Given the description of an element on the screen output the (x, y) to click on. 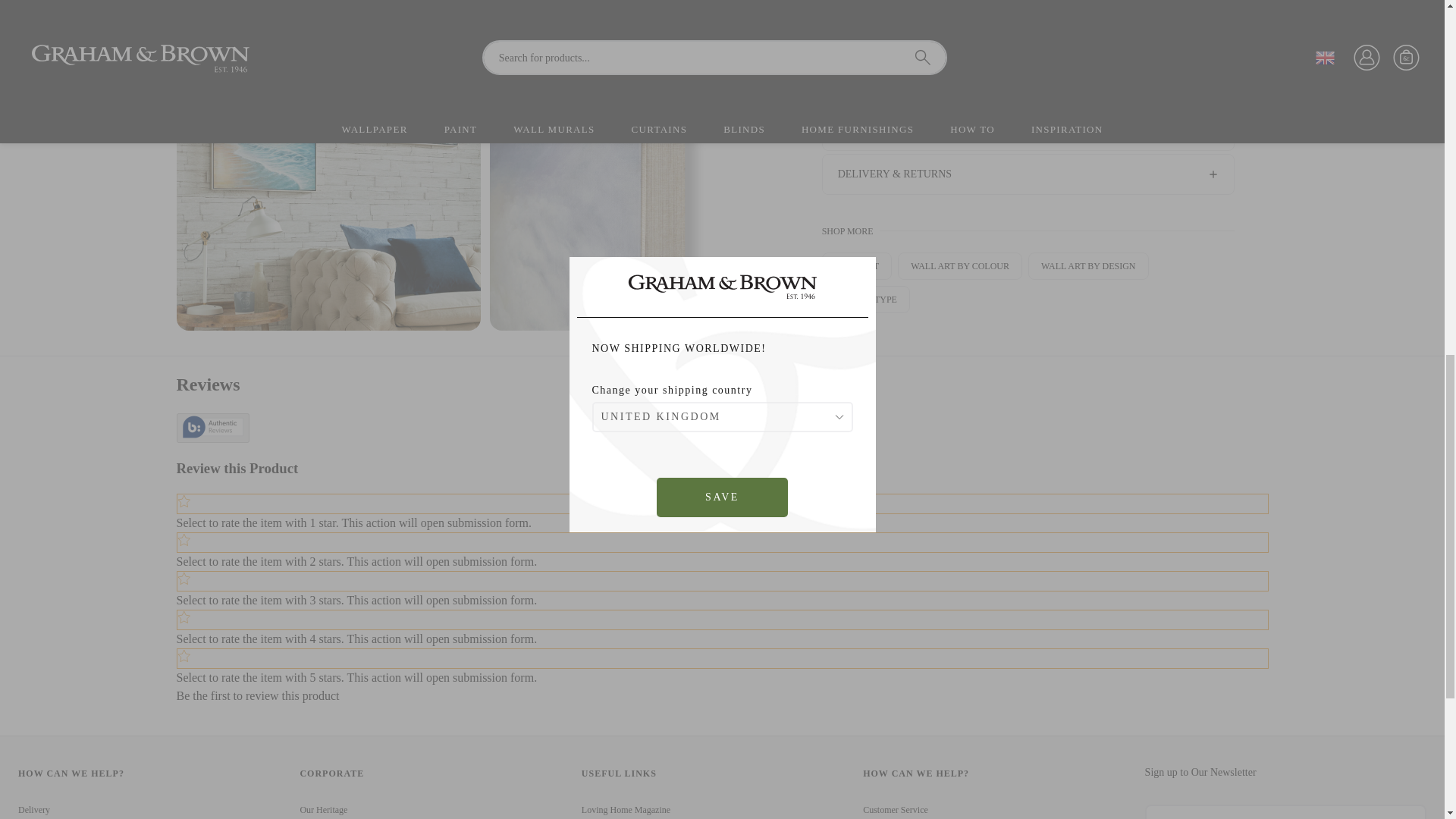
Our Heritage (323, 809)
Sunset Shores Framed Wall Art (641, 177)
Sunset Shores Framed Wall Art (480, 9)
Delivery (33, 809)
Loving Home Magazine (624, 809)
Sunset Shores Framed Wall Art (328, 177)
